Given the description of an element on the screen output the (x, y) to click on. 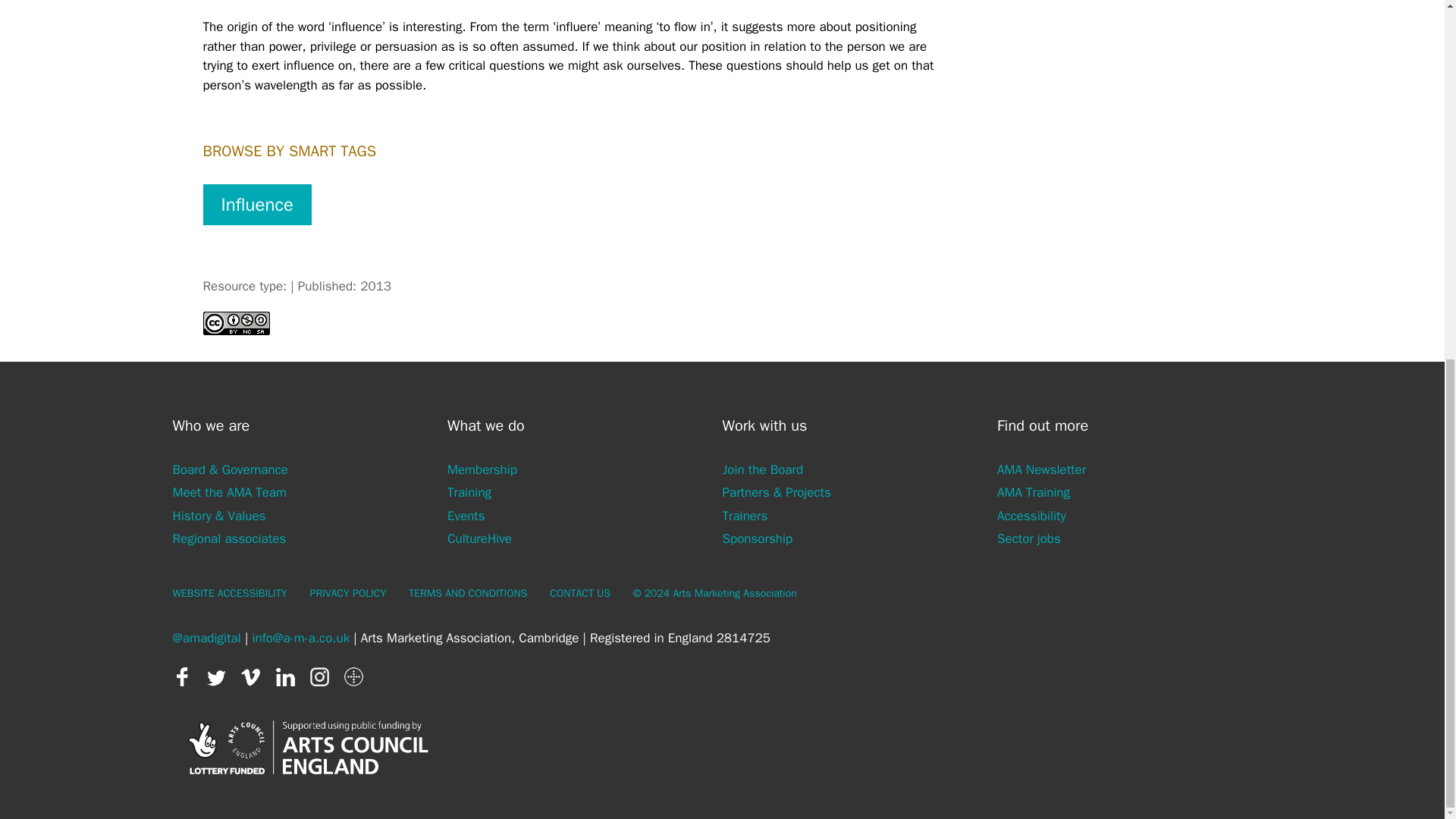
Sector jobs (1029, 538)
AMA Training (1033, 492)
Sponsorship (757, 538)
Membership (481, 469)
CultureHive (479, 538)
WEBSITE ACCESSIBILITY (229, 593)
Join the Board (762, 469)
Accessibility (1031, 515)
Meet the AMA Team (229, 492)
Regional associates (229, 538)
